Given the description of an element on the screen output the (x, y) to click on. 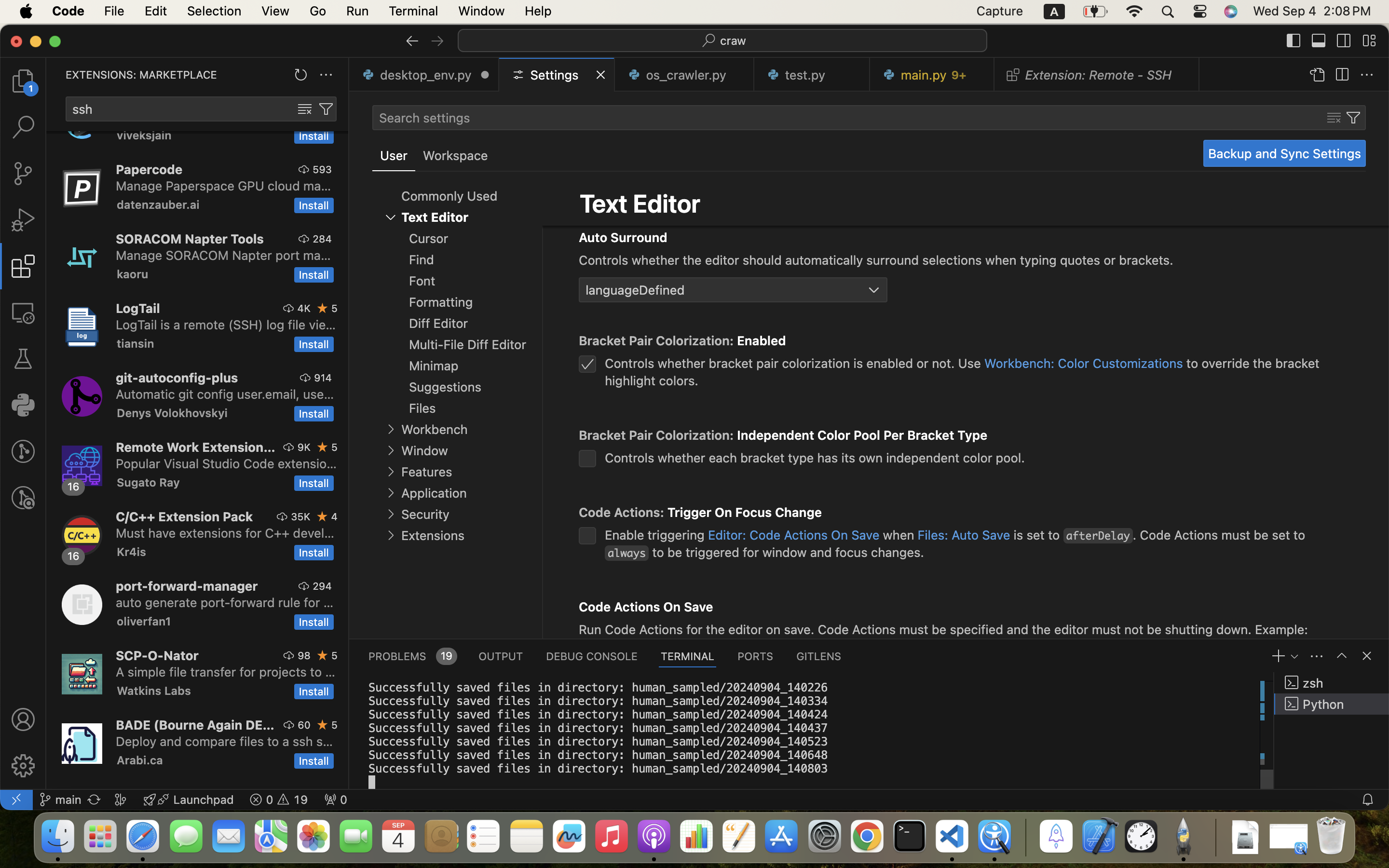
Enable triggering Element type: AXStaticText (656, 534)
viveksjain Element type: AXStaticText (143, 136)
 0 Element type: AXButton (335, 799)
SCP-O-Nator Element type: AXStaticText (156, 655)
SORACOM Napter Tools Element type: AXStaticText (189, 238)
